Given the description of an element on the screen output the (x, y) to click on. 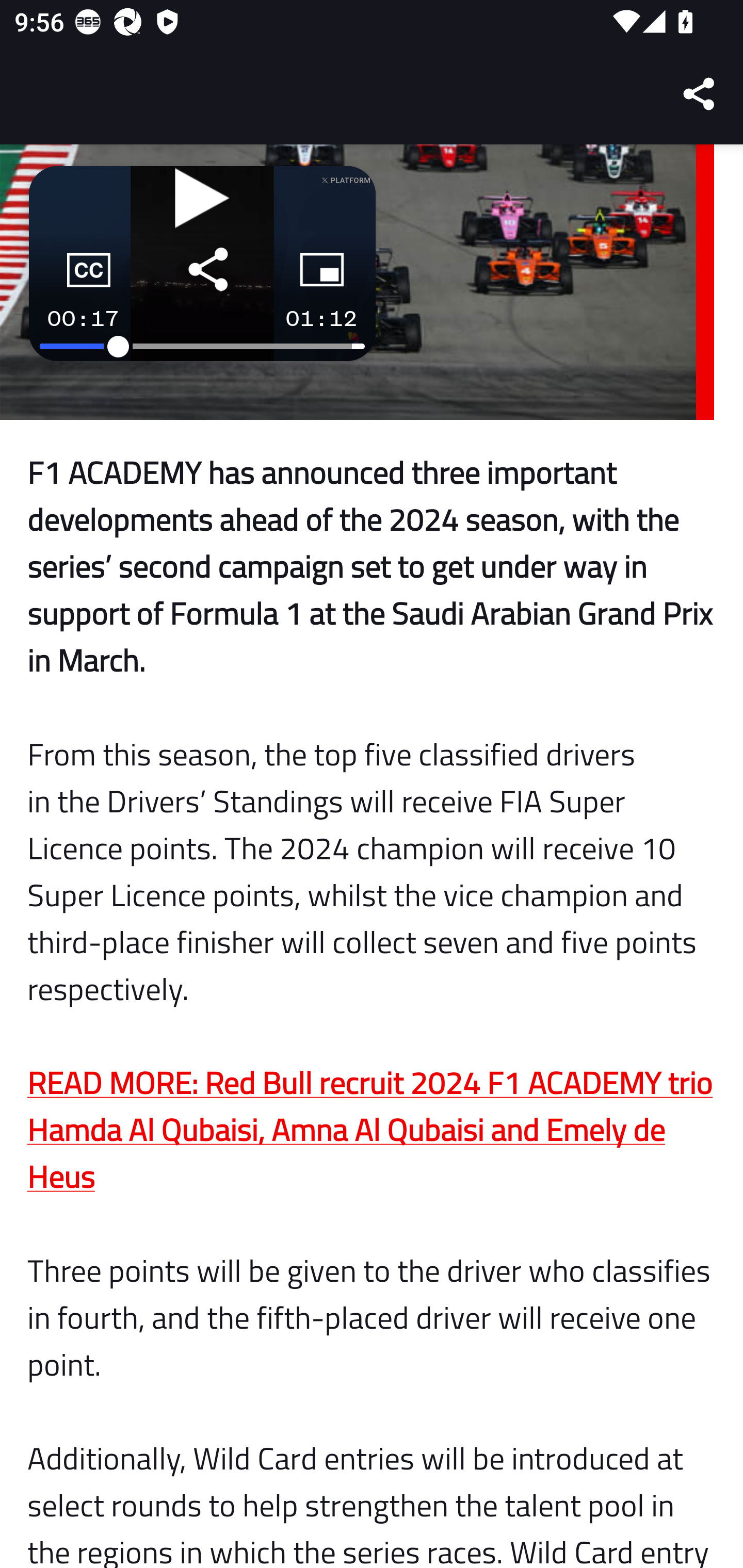
Share (699, 93)
